Given the description of an element on the screen output the (x, y) to click on. 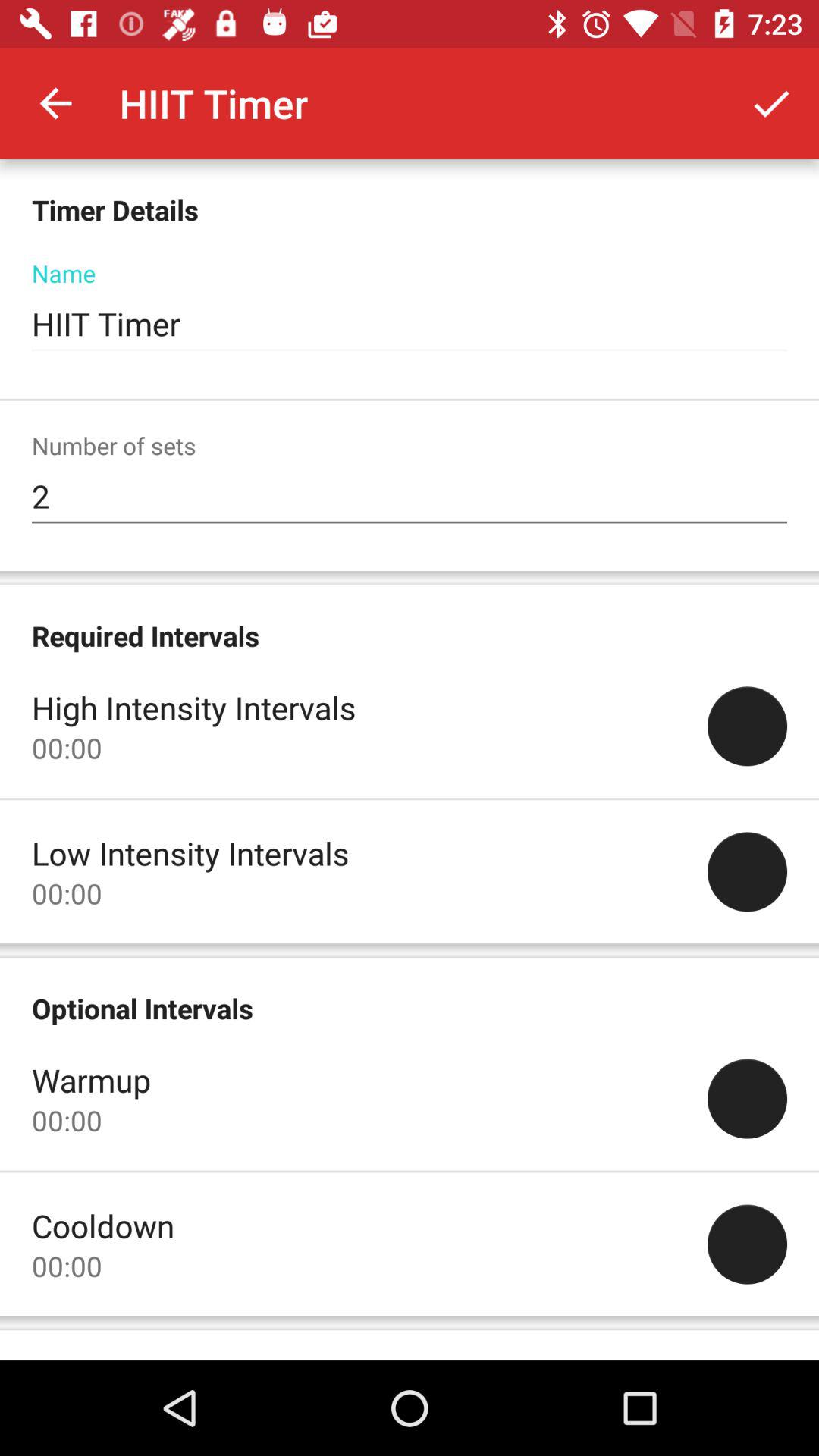
click item above the hiit timer (771, 103)
